Given the description of an element on the screen output the (x, y) to click on. 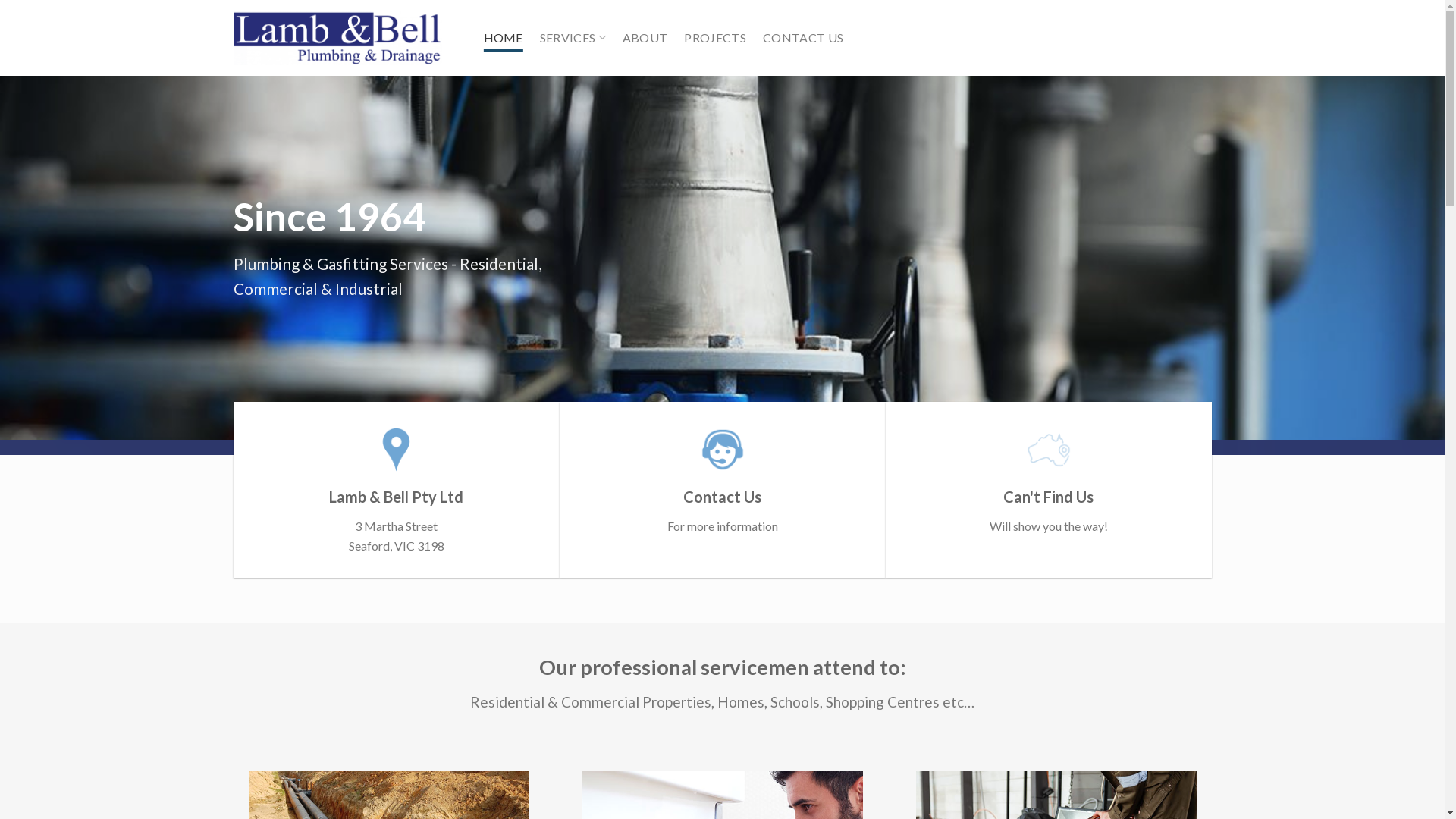
PROJECTS Element type: text (715, 37)
CONTACT US Element type: text (802, 37)
Can't Find Us
Will show you the way! Element type: text (1048, 480)
SERVICES Element type: text (572, 37)
ABOUT Element type: text (645, 37)
HOME Element type: text (503, 37)
Contact Us
For more information Element type: text (722, 480)
